Given the description of an element on the screen output the (x, y) to click on. 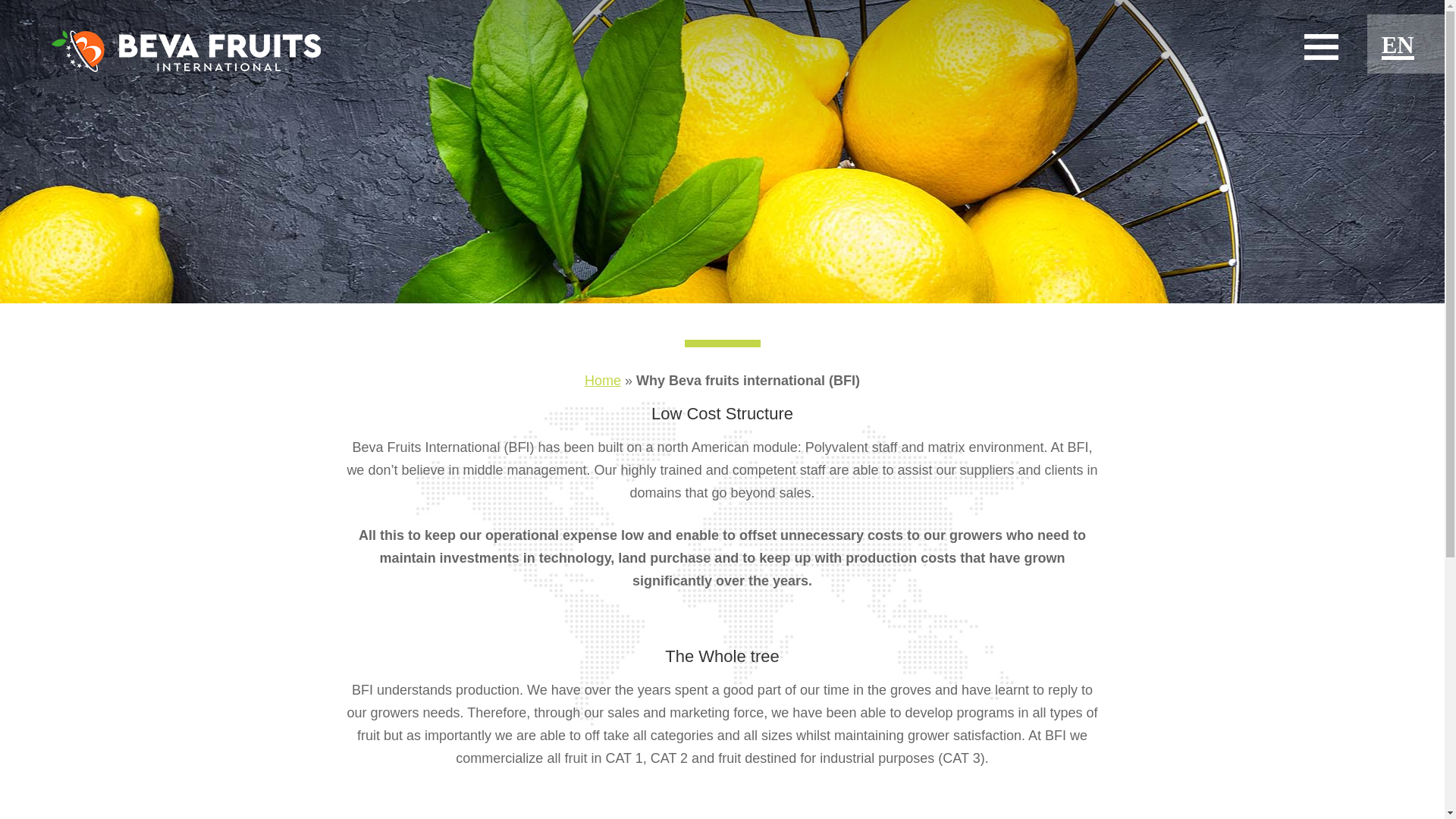
ES (1395, 91)
Home (603, 380)
